Given the description of an element on the screen output the (x, y) to click on. 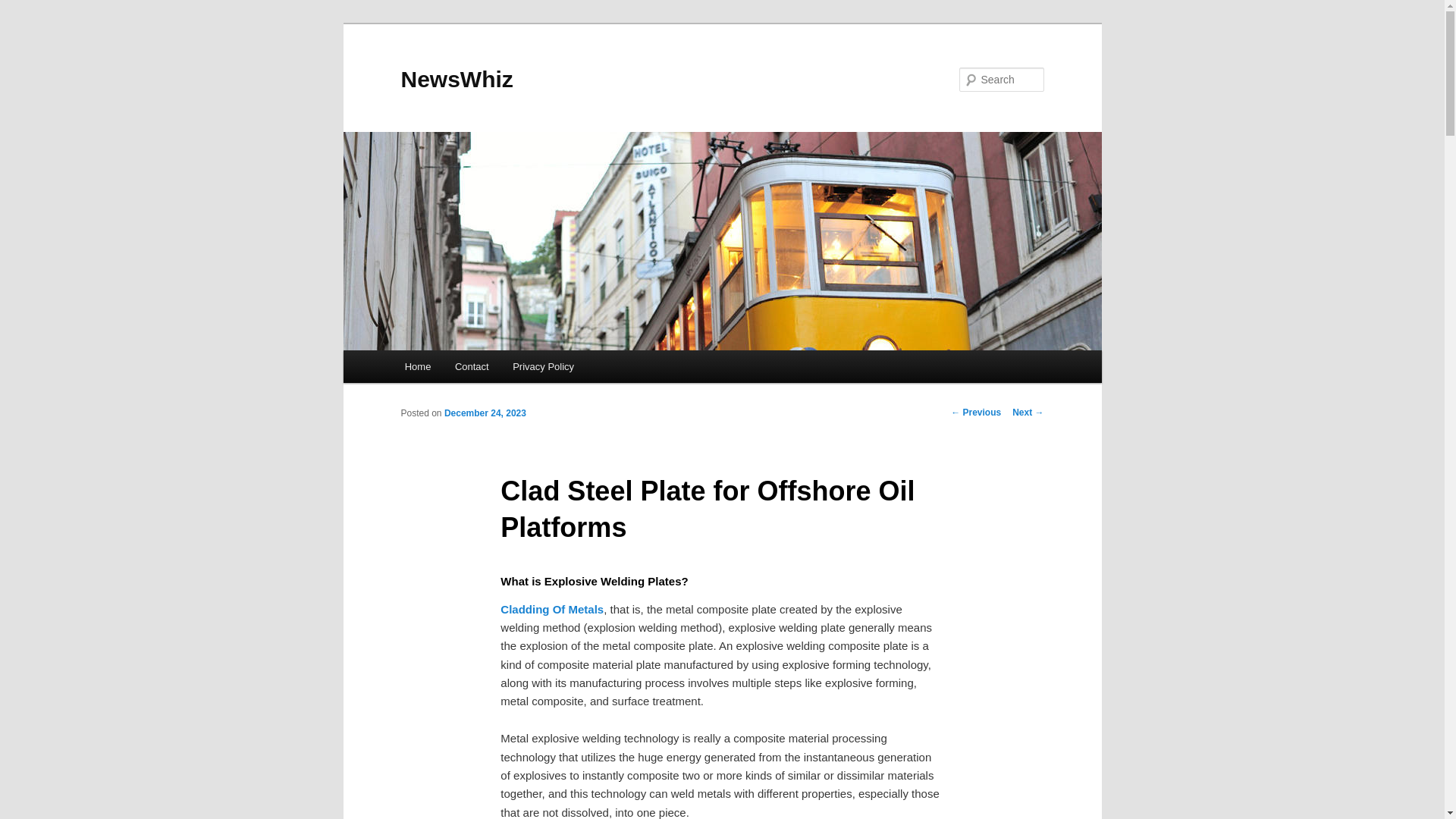
Search (24, 8)
Home (417, 366)
NewsWhiz (456, 78)
4:21 pm (484, 412)
Privacy Policy (542, 366)
Contact (471, 366)
December 24, 2023 (484, 412)
Cladding Of Metals (552, 608)
